Given the description of an element on the screen output the (x, y) to click on. 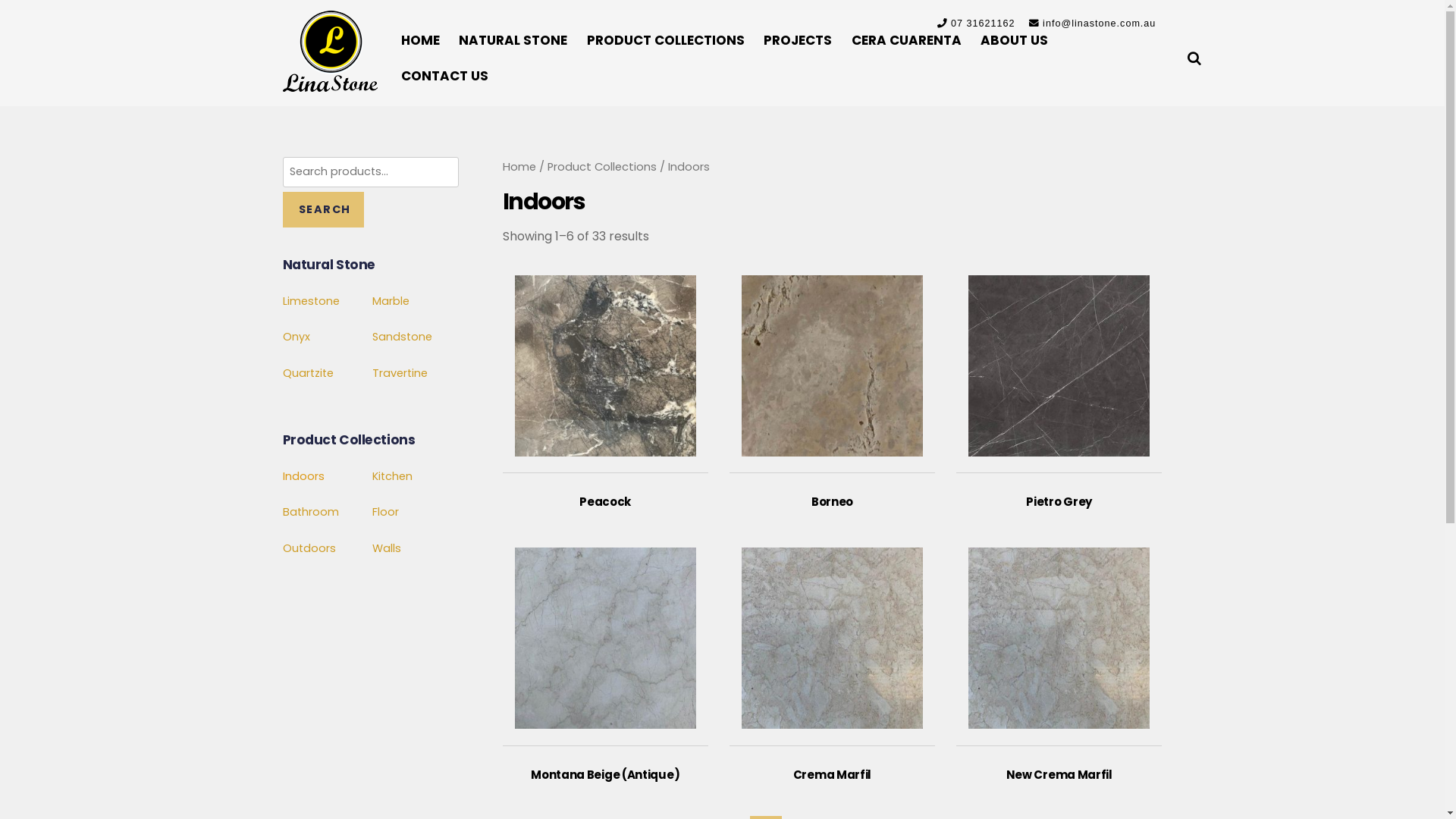
CERA CUARENTA Element type: text (905, 40)
Kitchen Element type: text (392, 475)
PRODUCT COLLECTIONS Element type: text (665, 40)
Bathroom Element type: text (310, 511)
Montana Beige (Antique) Element type: text (604, 657)
Home Element type: text (518, 166)
Walls Element type: text (386, 547)
ABOUT US Element type: text (1013, 40)
Outdoors Element type: text (308, 547)
NATURAL STONE Element type: text (512, 40)
Travertine Element type: text (399, 372)
info@linastone.com.au Element type: text (1098, 23)
New Crema Marfil Element type: text (1058, 657)
CONTACT US Element type: text (444, 75)
Floor Element type: text (385, 511)
Sandstone Element type: text (402, 336)
SEARCH Element type: text (322, 209)
Quartzite Element type: text (307, 372)
Onyx Element type: text (295, 336)
Lina Stone Element type: hover (329, 50)
Marble Element type: text (390, 300)
Borneo Element type: text (832, 385)
07 31621162 Element type: text (984, 23)
Product Collections Element type: text (601, 166)
Limestone Element type: text (310, 300)
HOME Element type: text (420, 40)
Crema Marfil Element type: text (832, 657)
Pietro Grey Element type: text (1058, 385)
Lina Stone Element type: hover (329, 82)
PROJECTS Element type: text (797, 40)
Peacock Element type: text (604, 385)
